Given the description of an element on the screen output the (x, y) to click on. 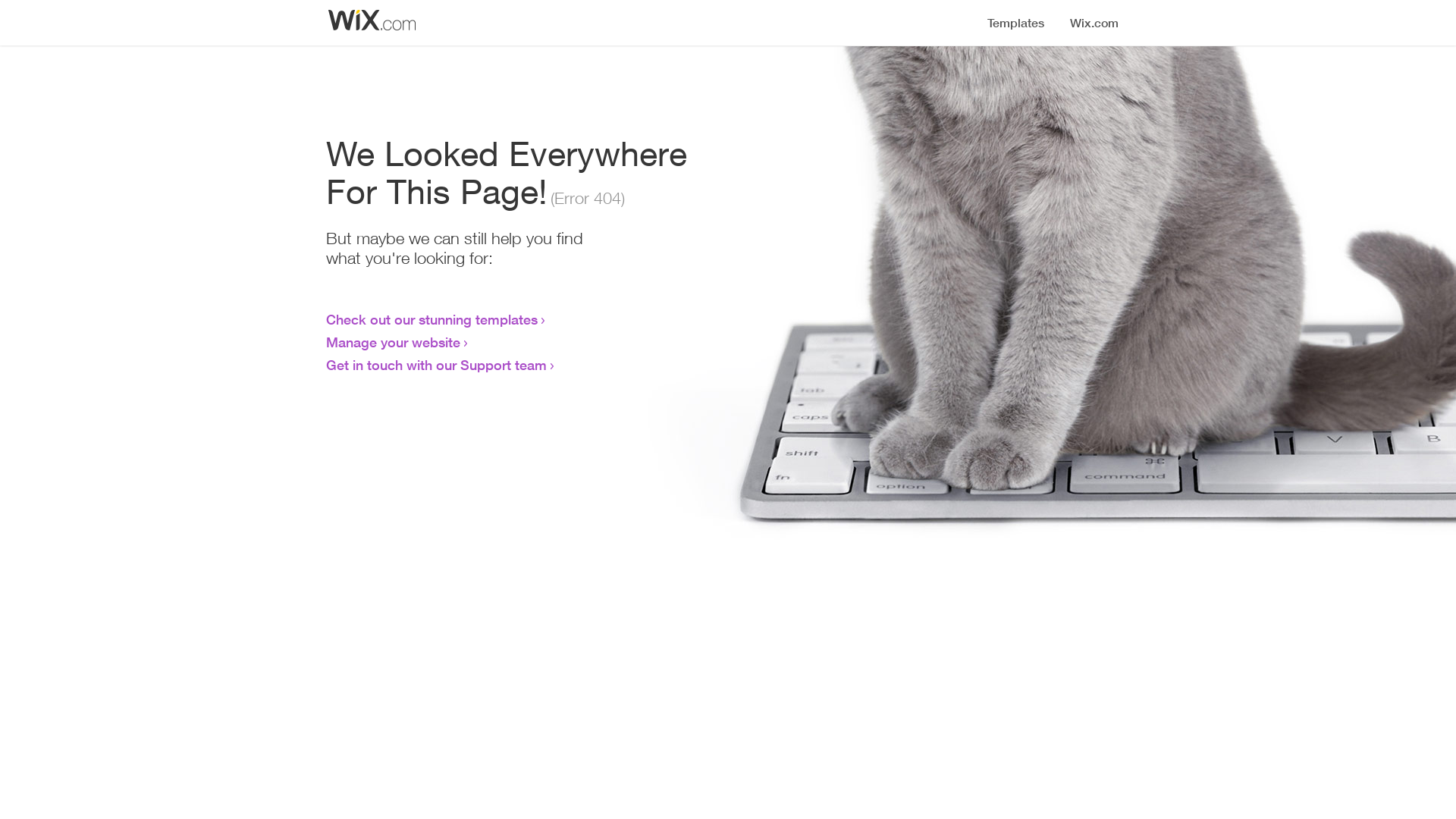
Get in touch with our Support team Element type: text (436, 364)
Manage your website Element type: text (393, 341)
Check out our stunning templates Element type: text (431, 318)
